Given the description of an element on the screen output the (x, y) to click on. 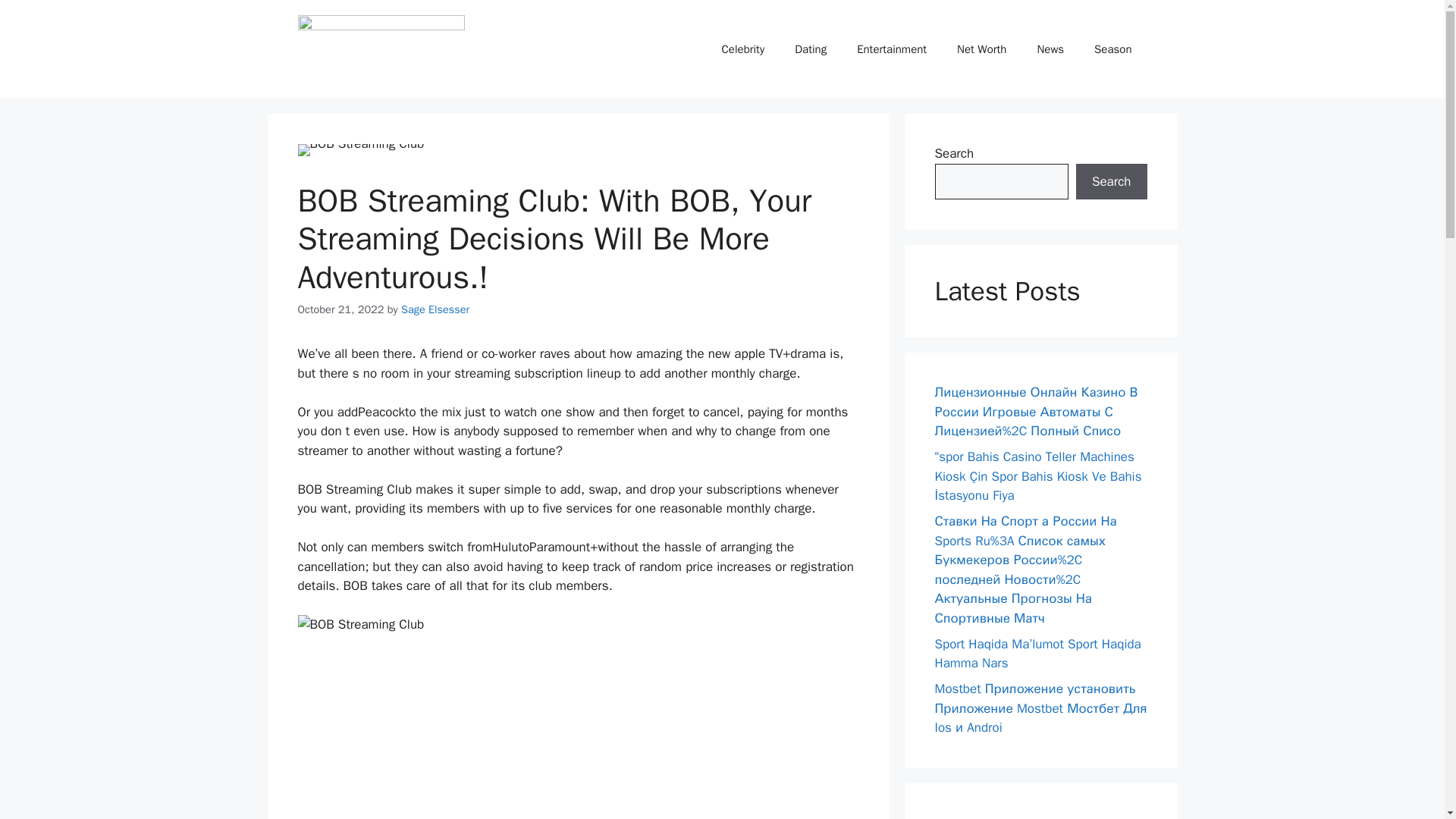
Search (1111, 181)
Net Worth (982, 49)
Entertainment (891, 49)
Dating (809, 49)
Celebrity (743, 49)
Season (1112, 49)
Sage Elsesser (434, 309)
News (1050, 49)
View all posts by Sage Elsesser (434, 309)
